Given the description of an element on the screen output the (x, y) to click on. 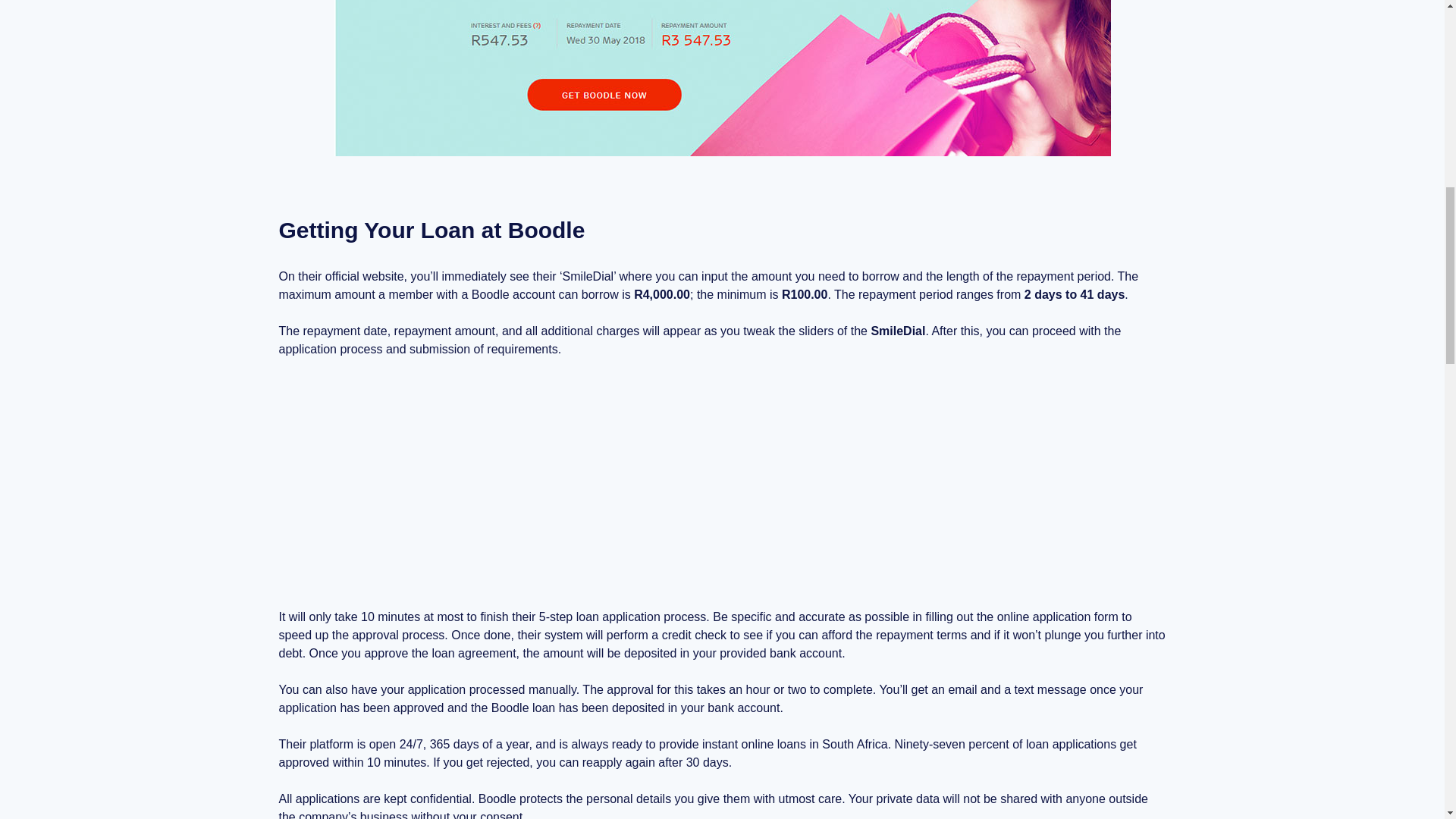
Welcome to Boodle (721, 482)
